Given the description of an element on the screen output the (x, y) to click on. 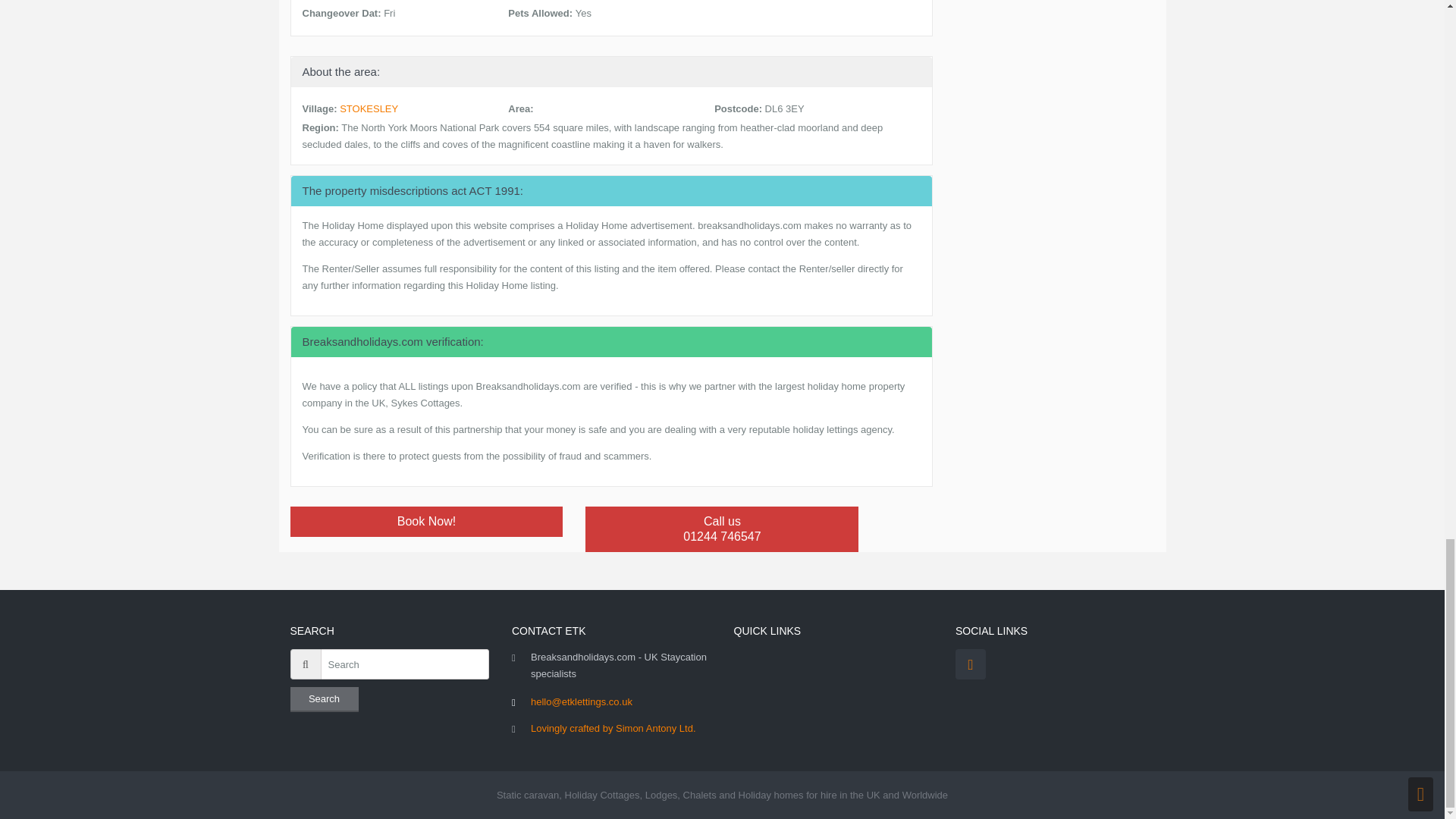
Call 01244 746547 to book (722, 529)
STOKESLEY (722, 529)
Lovingly crafted by Simon Antony Ltd. (368, 108)
Book Pottowe Cottage Now! (613, 727)
About the area: (425, 521)
Book Now! (612, 70)
Search (425, 521)
